Given the description of an element on the screen output the (x, y) to click on. 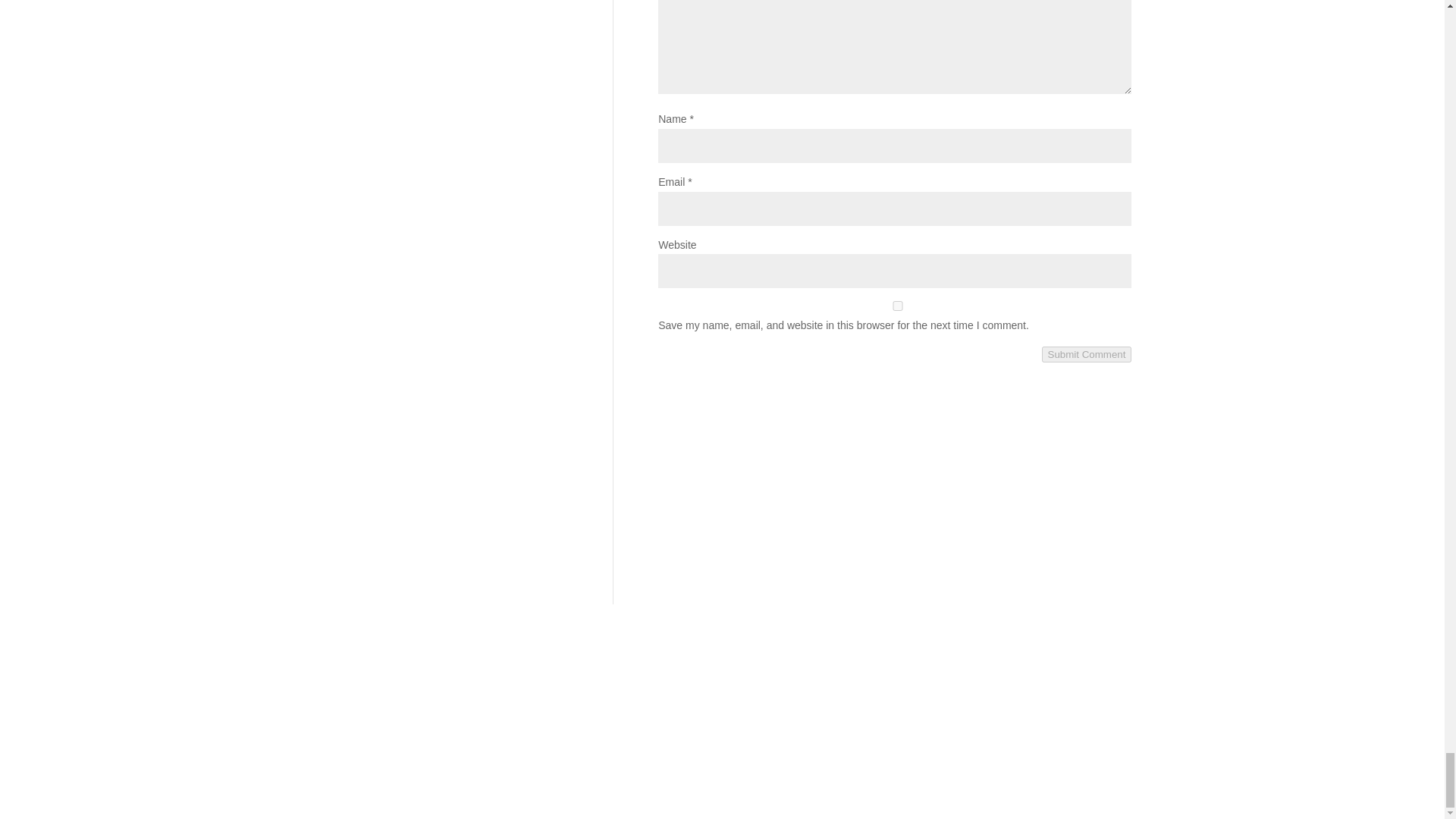
yes (897, 306)
Follow on Instagram (938, 739)
Follow on Pinterest (967, 739)
Follow on Facebook (907, 739)
